Given the description of an element on the screen output the (x, y) to click on. 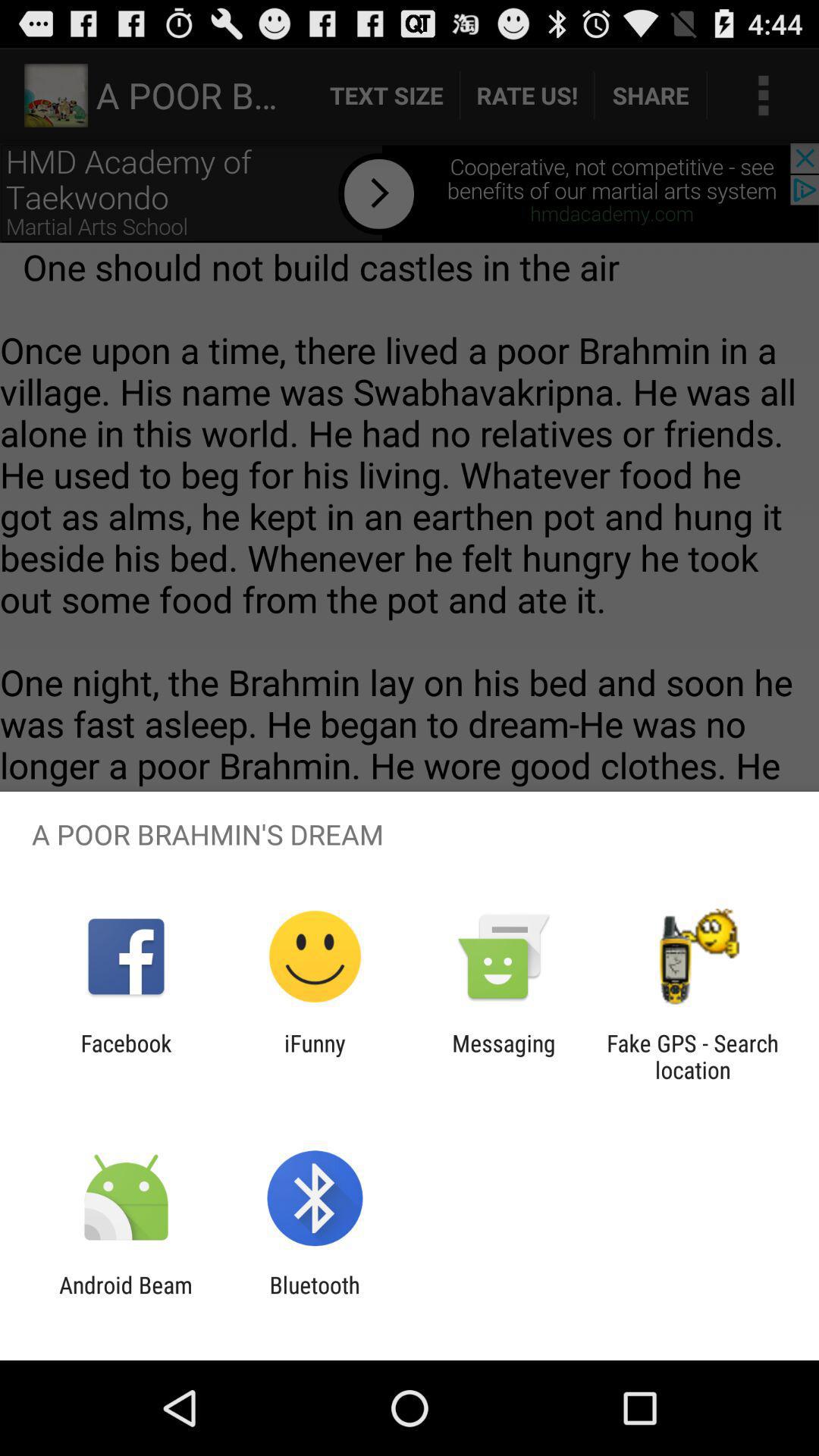
swipe until the ifunny app (314, 1056)
